Given the description of an element on the screen output the (x, y) to click on. 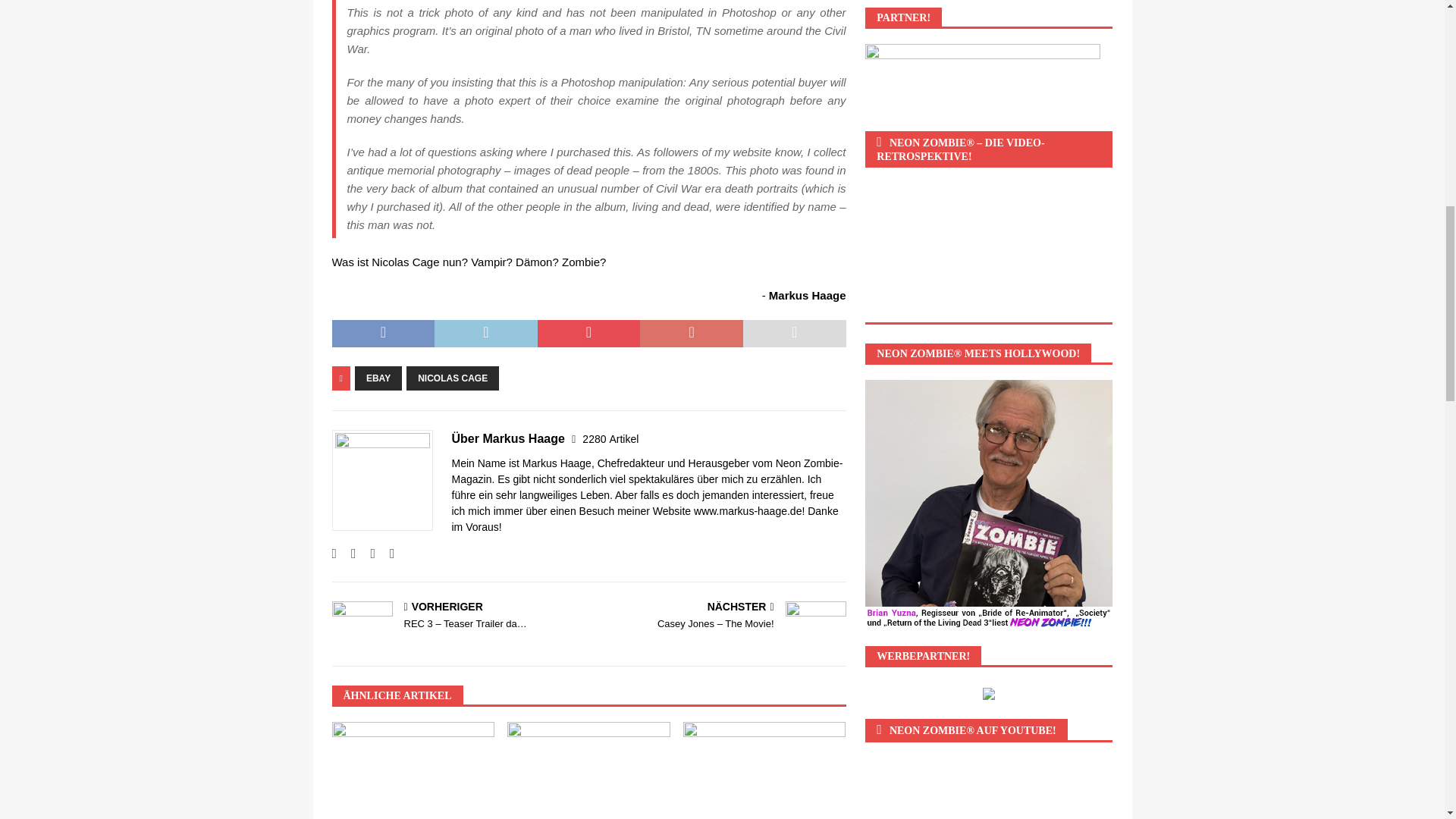
Folge Markus Haage bei Instagram (366, 553)
Weitere Artikel von Markus Haage' (610, 439)
Folge Markus Haage bei Facebook (347, 553)
Folge Markus Haage bei YouTube (386, 553)
EBAY (378, 378)
NICOLAS CAGE (452, 378)
